Given the description of an element on the screen output the (x, y) to click on. 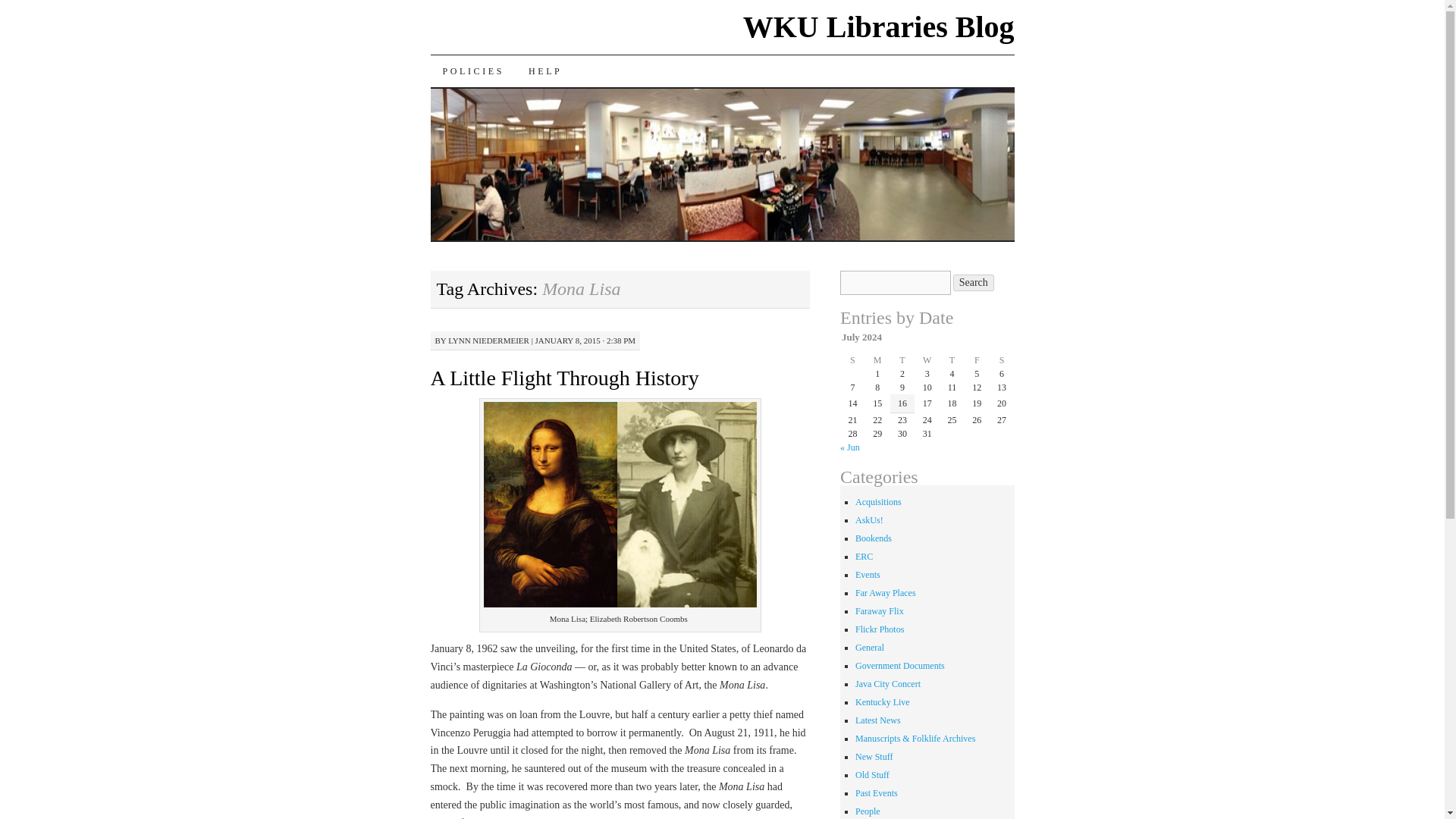
WKU Libraries Blog (878, 26)
Java City Concert (888, 683)
LYNN NIEDERMEIER (488, 339)
Friday (976, 359)
New Stuff (874, 756)
Monday (876, 359)
ERC (864, 556)
Skip to content (440, 101)
Thursday (951, 359)
POLICIES (473, 70)
Past Events (877, 792)
A Little Flight Through History (564, 377)
Acquisitions (878, 501)
Government Documents (900, 665)
Far Away Places (885, 593)
